Given the description of an element on the screen output the (x, y) to click on. 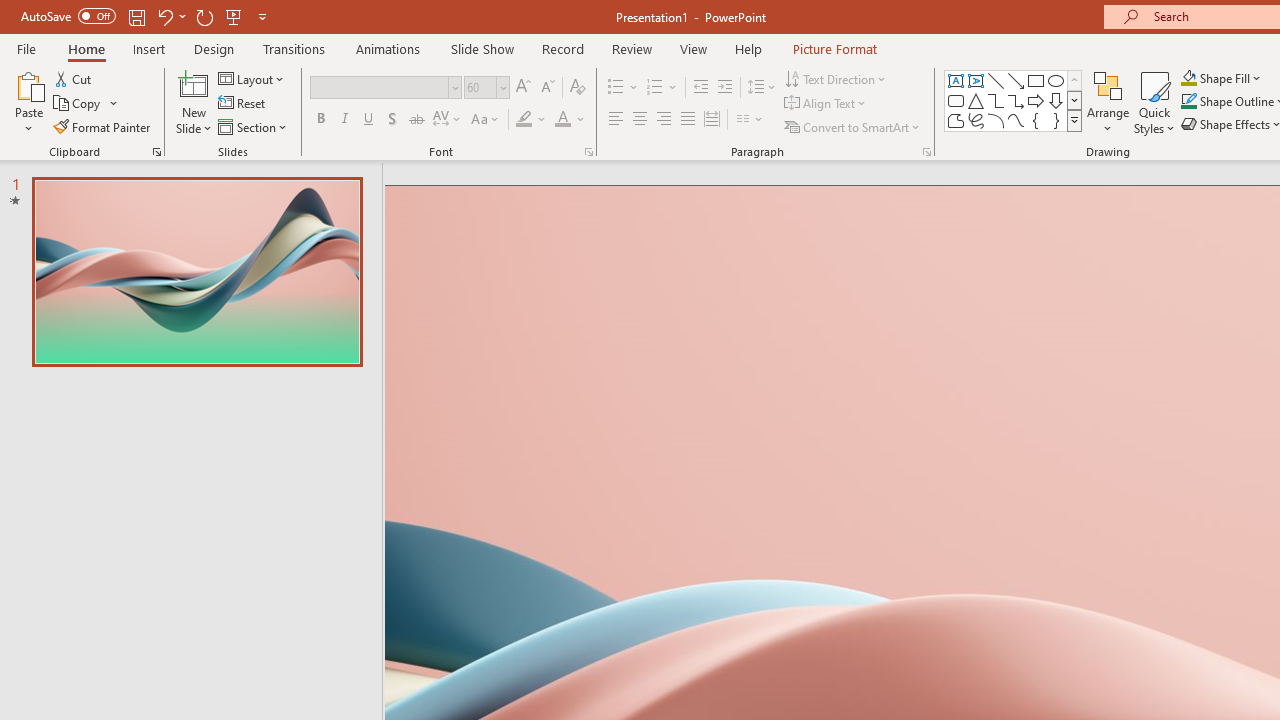
Shape Fill Orange, Accent 2 (1188, 78)
Undo (170, 15)
Font... (588, 151)
Section (254, 126)
Align Right (663, 119)
Connector: Elbow Arrow (1016, 100)
Class: NetUIImage (1075, 120)
Numbering (661, 87)
Bullets (623, 87)
Save (136, 15)
Office Clipboard... (156, 151)
Row up (1074, 79)
Right Brace (1055, 120)
File Tab (26, 48)
AutomationID: ShapesInsertGallery (1014, 100)
